Given the description of an element on the screen output the (x, y) to click on. 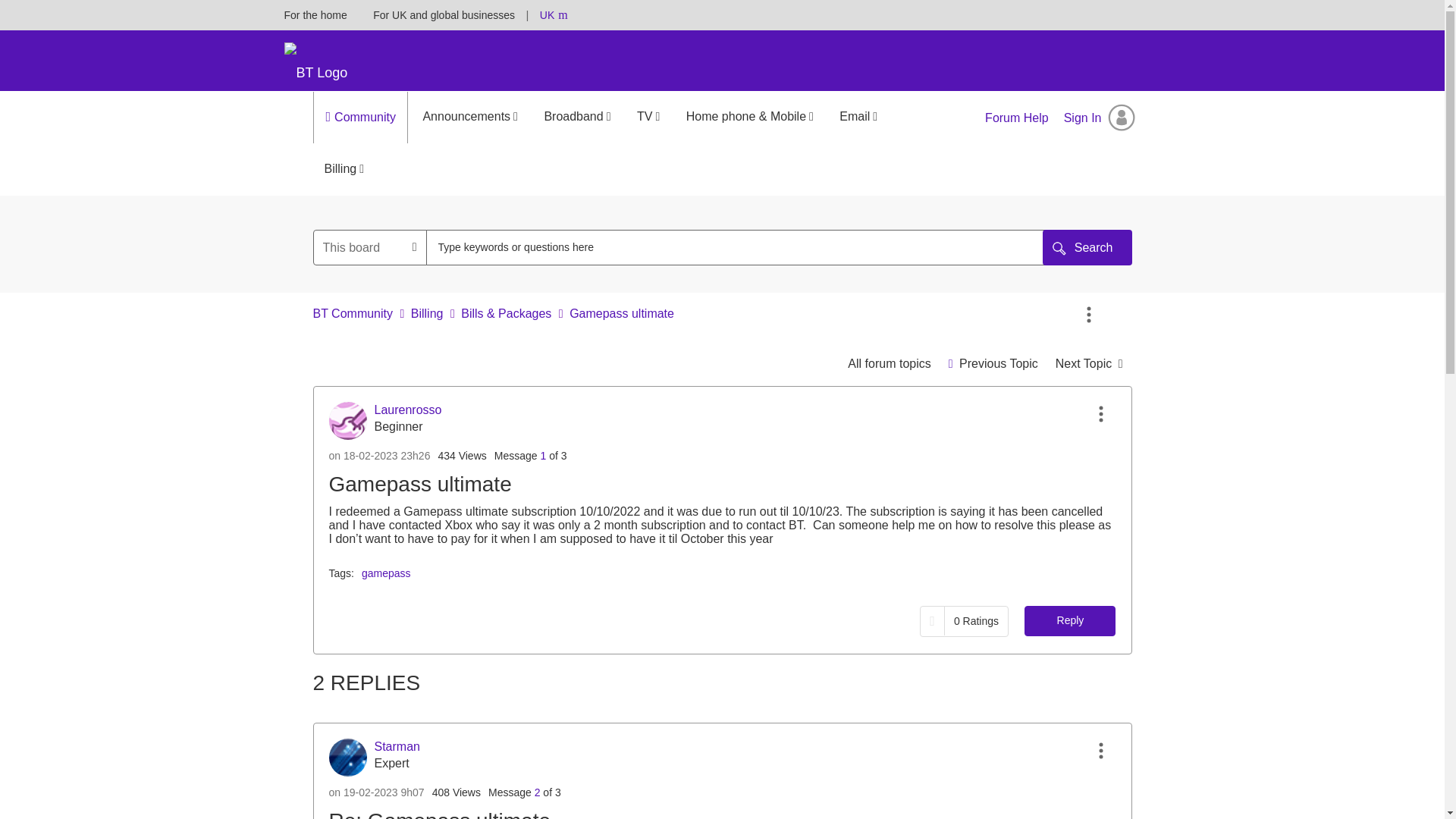
Laurenrosso (347, 420)
Search Granularity (370, 247)
Search (1087, 247)
For the home (314, 15)
The total number of ratings this post has received. (975, 620)
Show option menu (1088, 314)
BT ID not recognised, complaint raised (1089, 363)
UK (547, 15)
Show option menu (1100, 413)
Search (1087, 247)
